Given the description of an element on the screen output the (x, y) to click on. 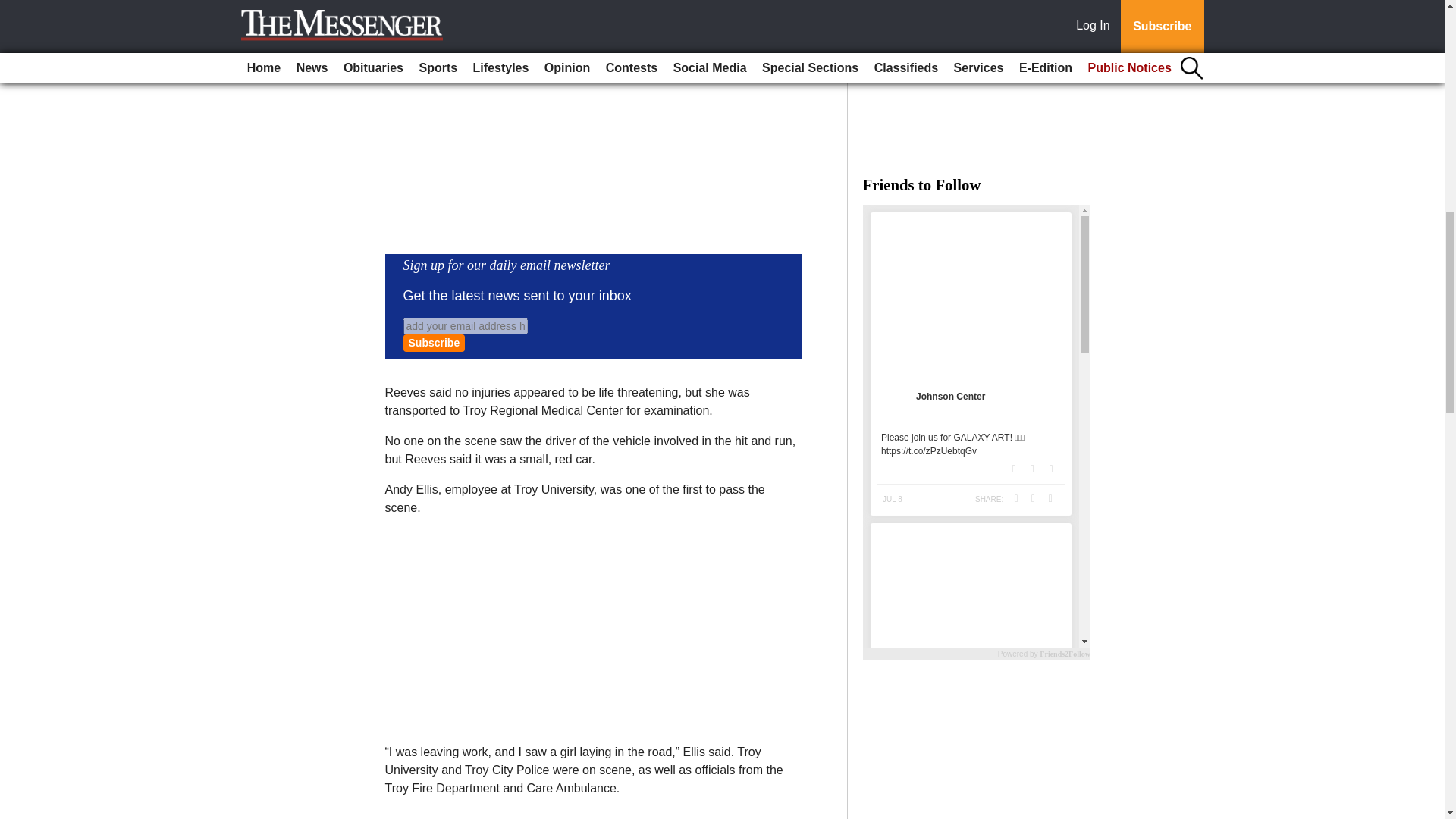
Subscribe (434, 343)
